Given the description of an element on the screen output the (x, y) to click on. 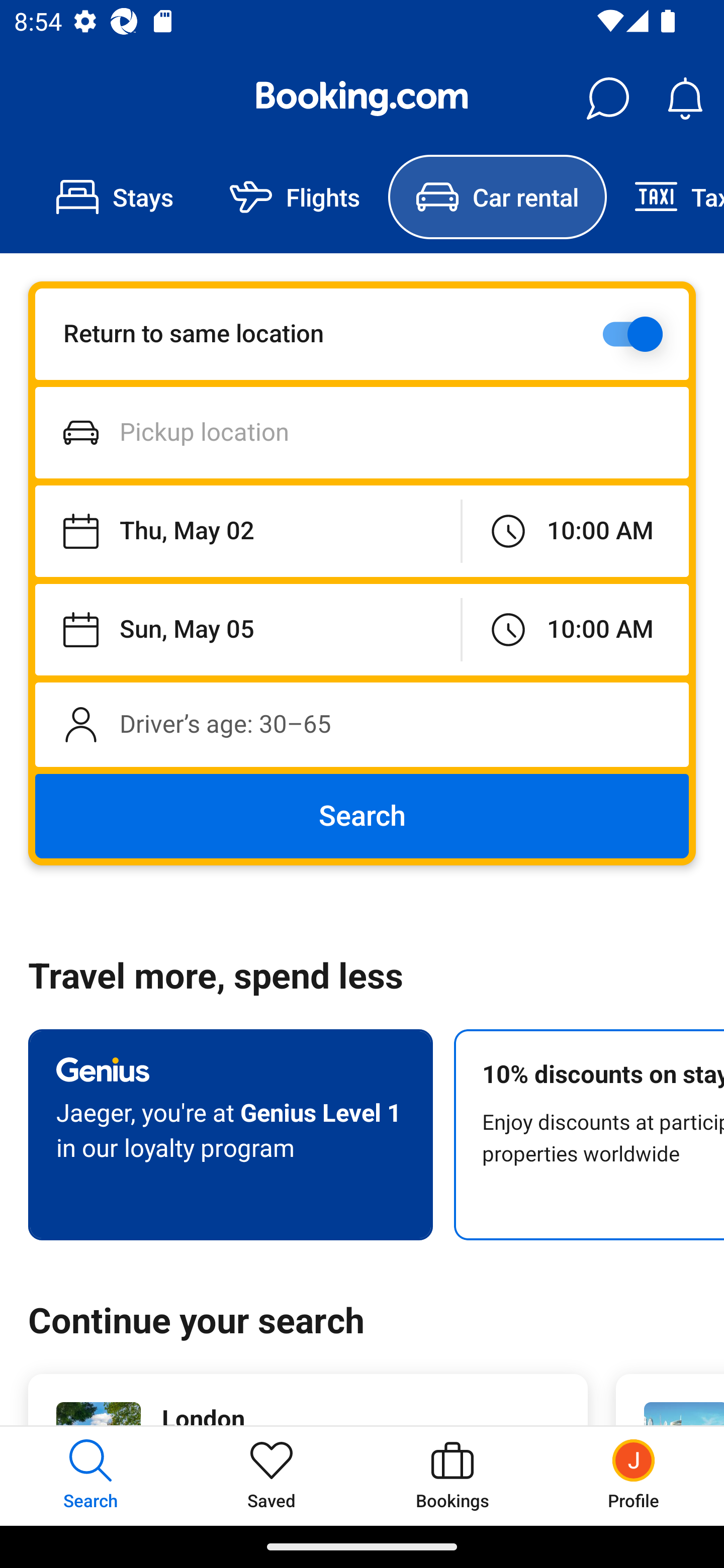
Messages (607, 98)
Notifications (685, 98)
Stays (114, 197)
Flights (294, 197)
Car rental (497, 197)
Taxi (665, 197)
Enter a pick-up location (361, 432)
Pick-up date: 2024-05-02 (247, 531)
Pick-up time: 10:00:00.000 (575, 531)
Drop-off date: 2024-05-05 (247, 629)
Drop-off time: 10:00:00.000 (575, 629)
Enter the driver's age (361, 724)
Search (361, 815)
Saved (271, 1475)
Bookings (452, 1475)
Profile (633, 1475)
